Given the description of an element on the screen output the (x, y) to click on. 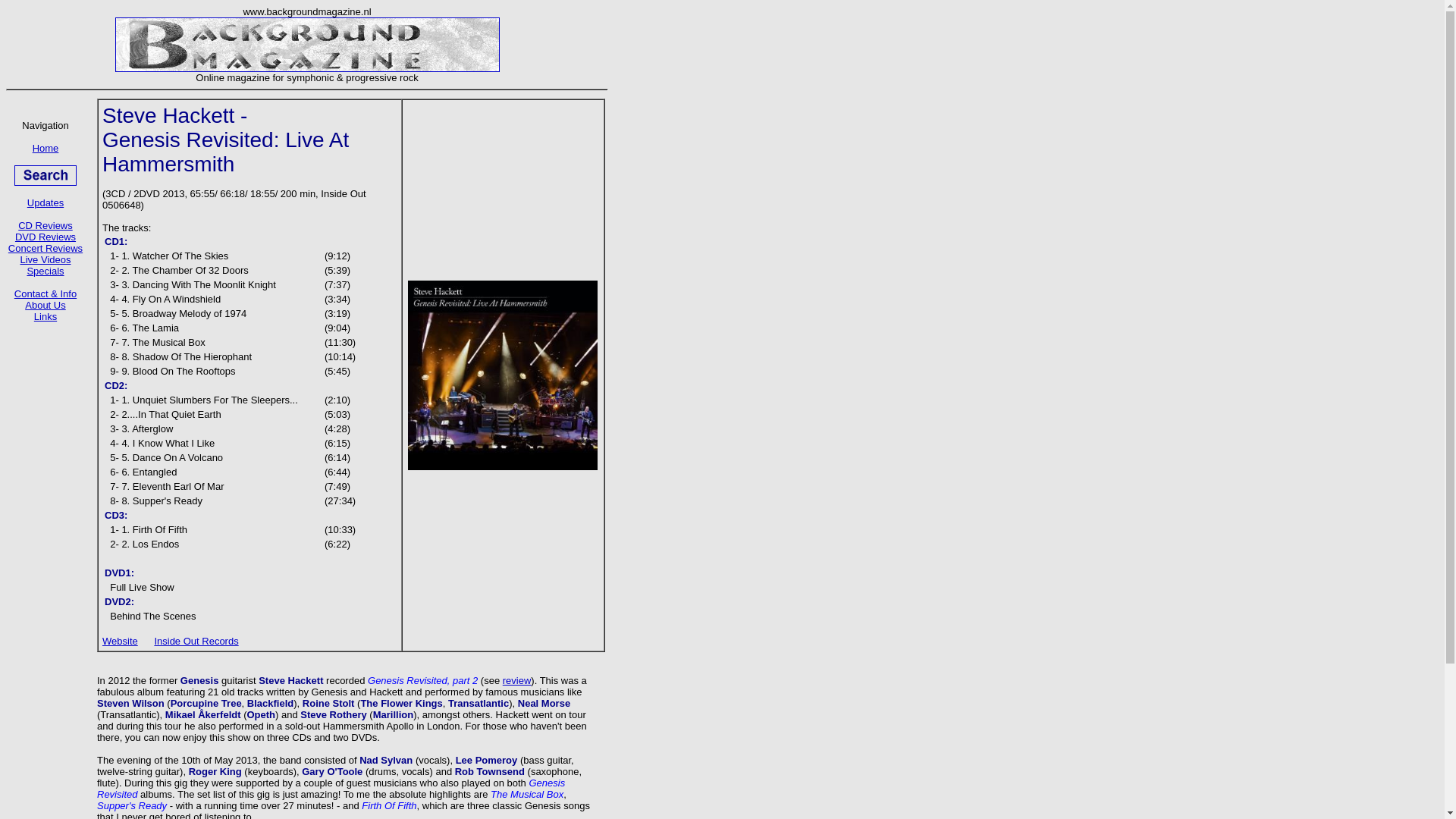
review (516, 680)
Website (119, 641)
Inside Out Records (196, 641)
